Given the description of an element on the screen output the (x, y) to click on. 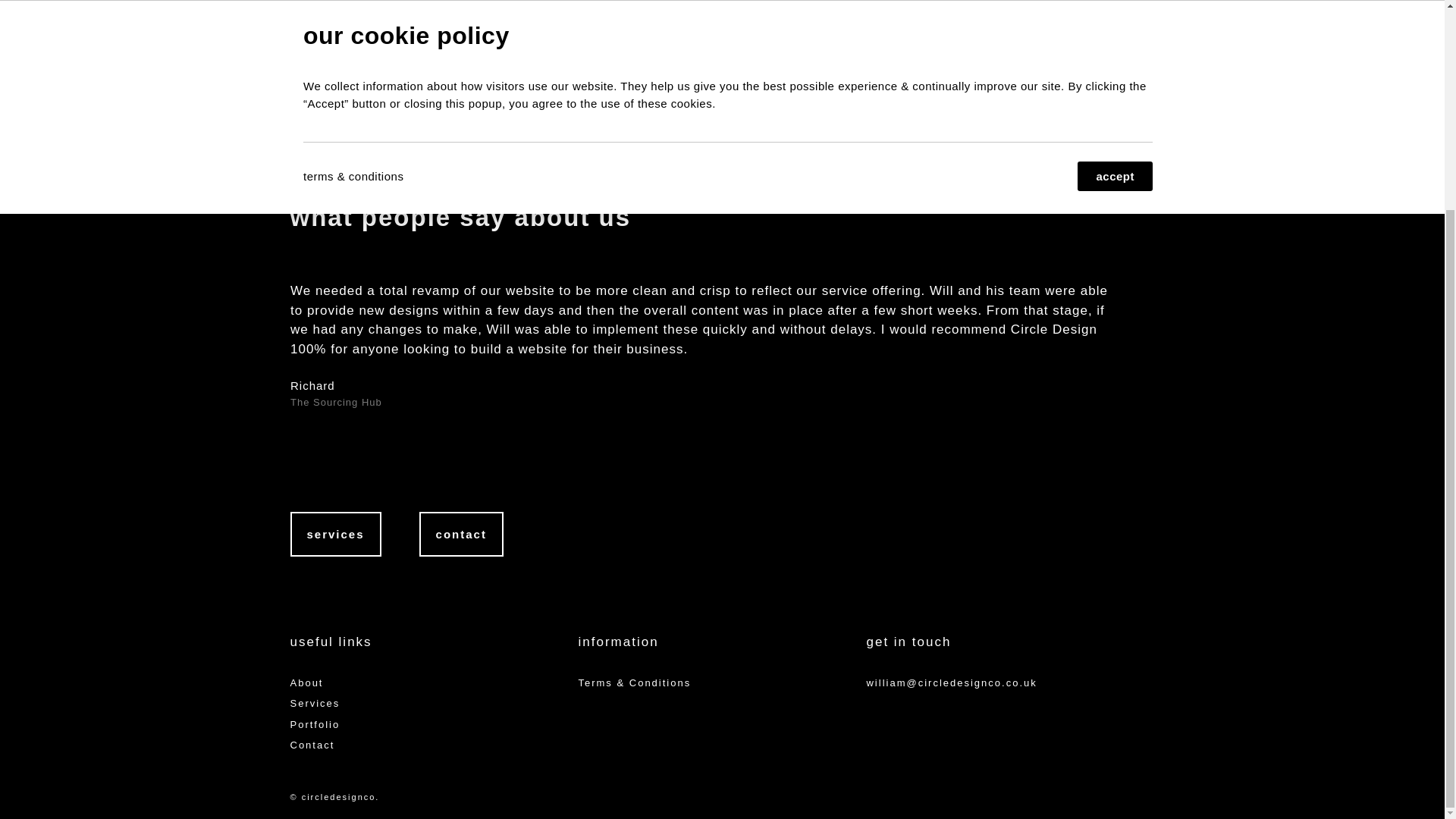
Services (314, 703)
Contact (311, 745)
Portfolio (314, 724)
services (334, 533)
contact (461, 533)
About (306, 682)
